Given the description of an element on the screen output the (x, y) to click on. 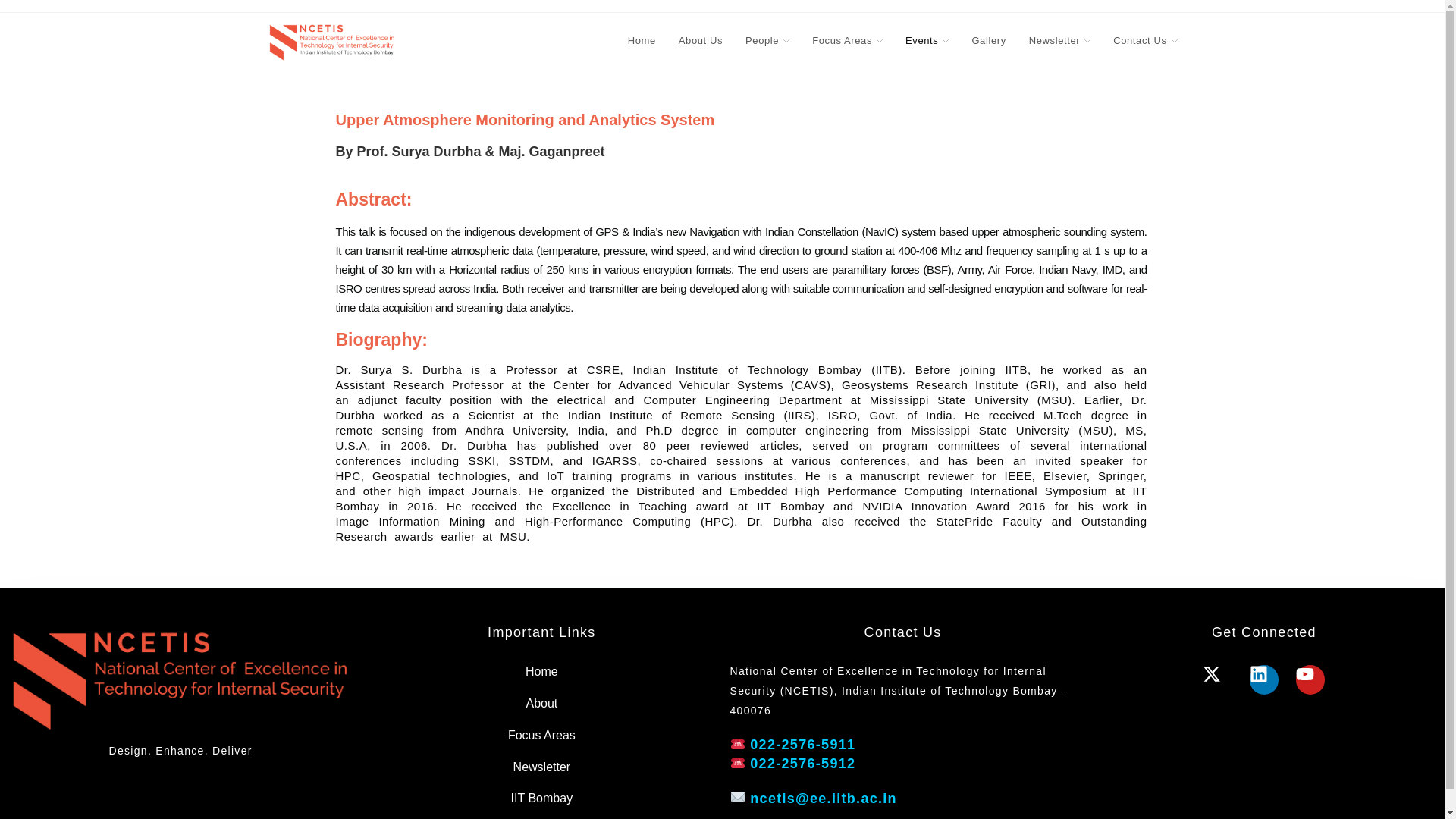
Home (640, 40)
About Us (699, 40)
People (766, 40)
Focus Areas (846, 40)
Events (926, 40)
